Given the description of an element on the screen output the (x, y) to click on. 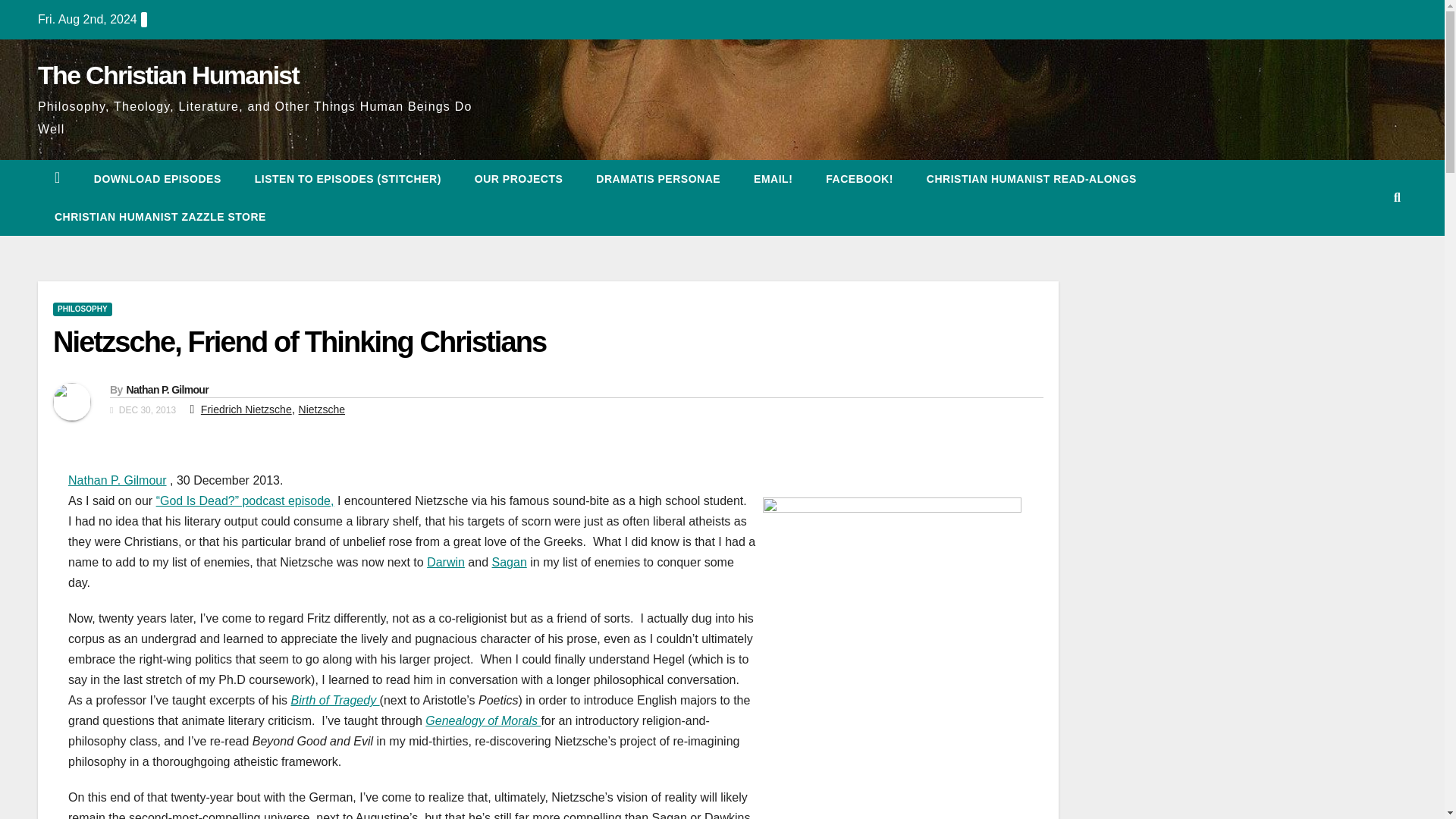
DOWNLOAD EPISODES (157, 178)
DRAMATIS PERSONAE (657, 178)
OUR PROJECTS (518, 178)
Download Episodes (157, 178)
The Christian Humanist (167, 74)
